Given the description of an element on the screen output the (x, y) to click on. 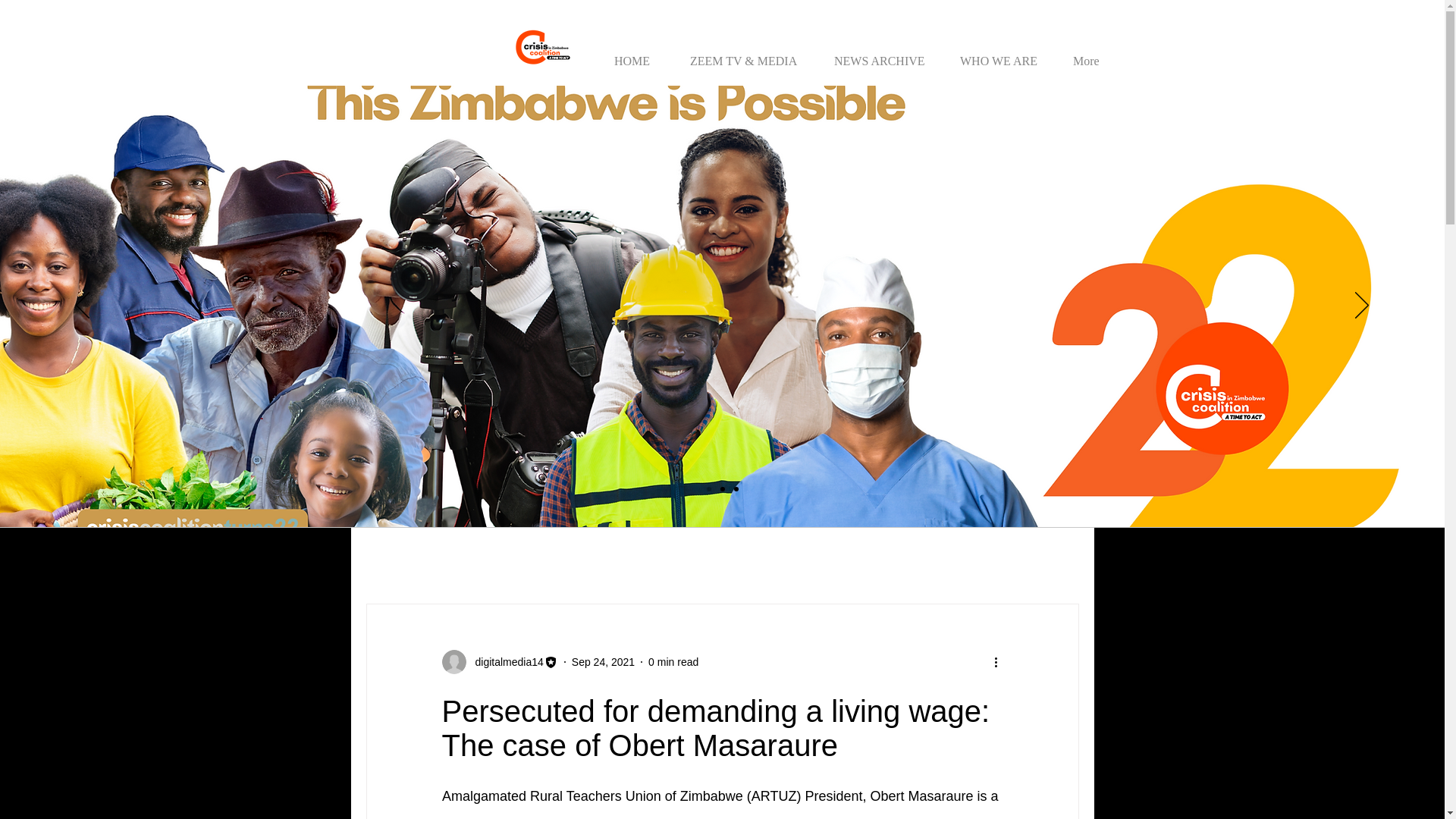
NEWS ARCHIVE (883, 53)
Sep 24, 2021 (603, 661)
digitalmedia14 (504, 661)
0 min read (672, 661)
HOME (638, 53)
WHO WE ARE (1002, 53)
digitalmedia14 (499, 662)
